Given the description of an element on the screen output the (x, y) to click on. 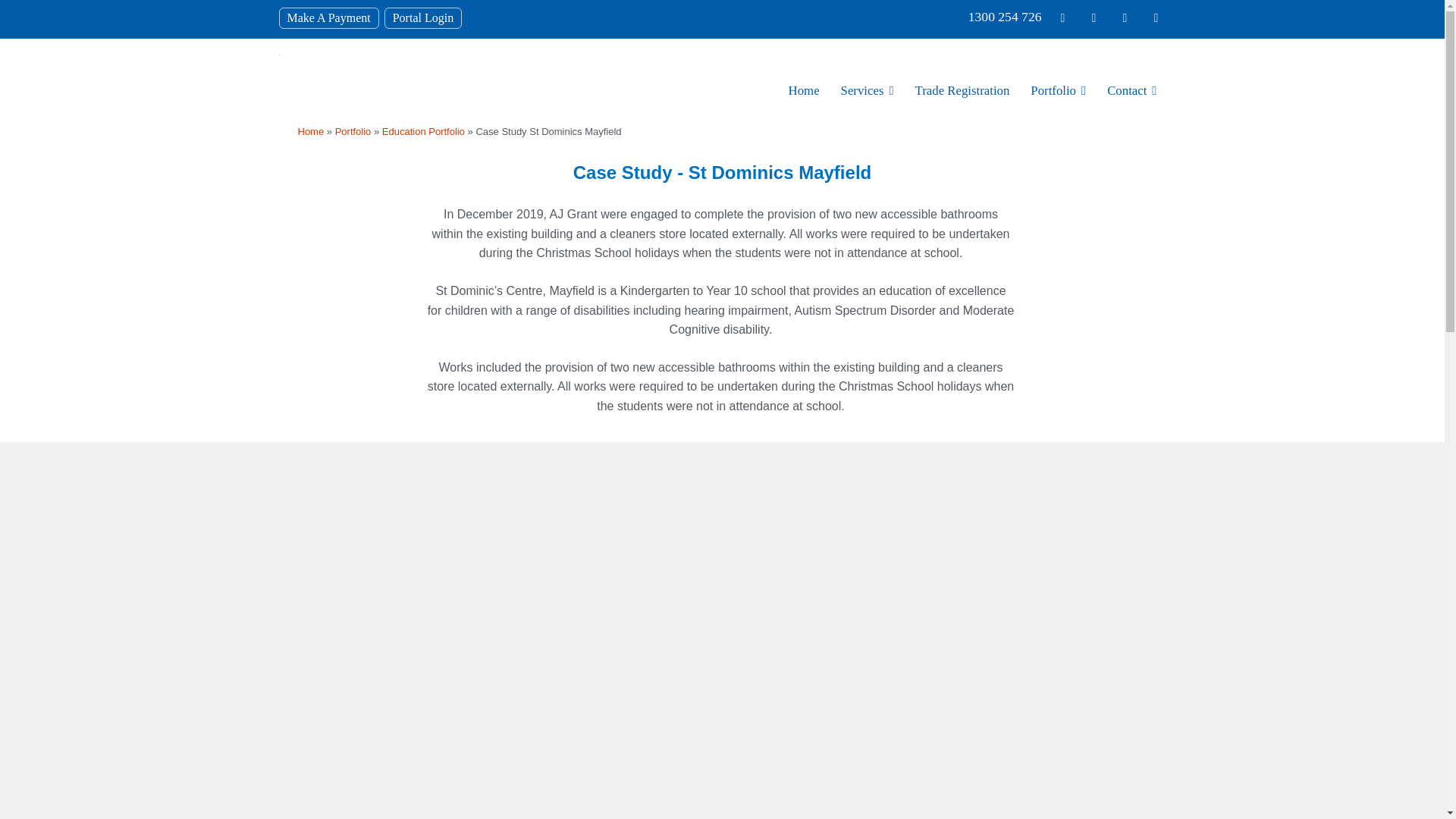
Trade Registration (962, 90)
Home (310, 131)
View our Youtube channel (1124, 17)
Portfolio (352, 131)
Services (866, 90)
Contact (1131, 90)
Home (803, 90)
Follow us on Instagram (1093, 17)
Portfolio (1058, 90)
Like us on Facebook (1061, 17)
Make A Payment (328, 17)
Join us on Linked-In (1156, 17)
Education Portfolio (422, 131)
Portal Login (423, 17)
1300 254 726 (1005, 16)
